Given the description of an element on the screen output the (x, y) to click on. 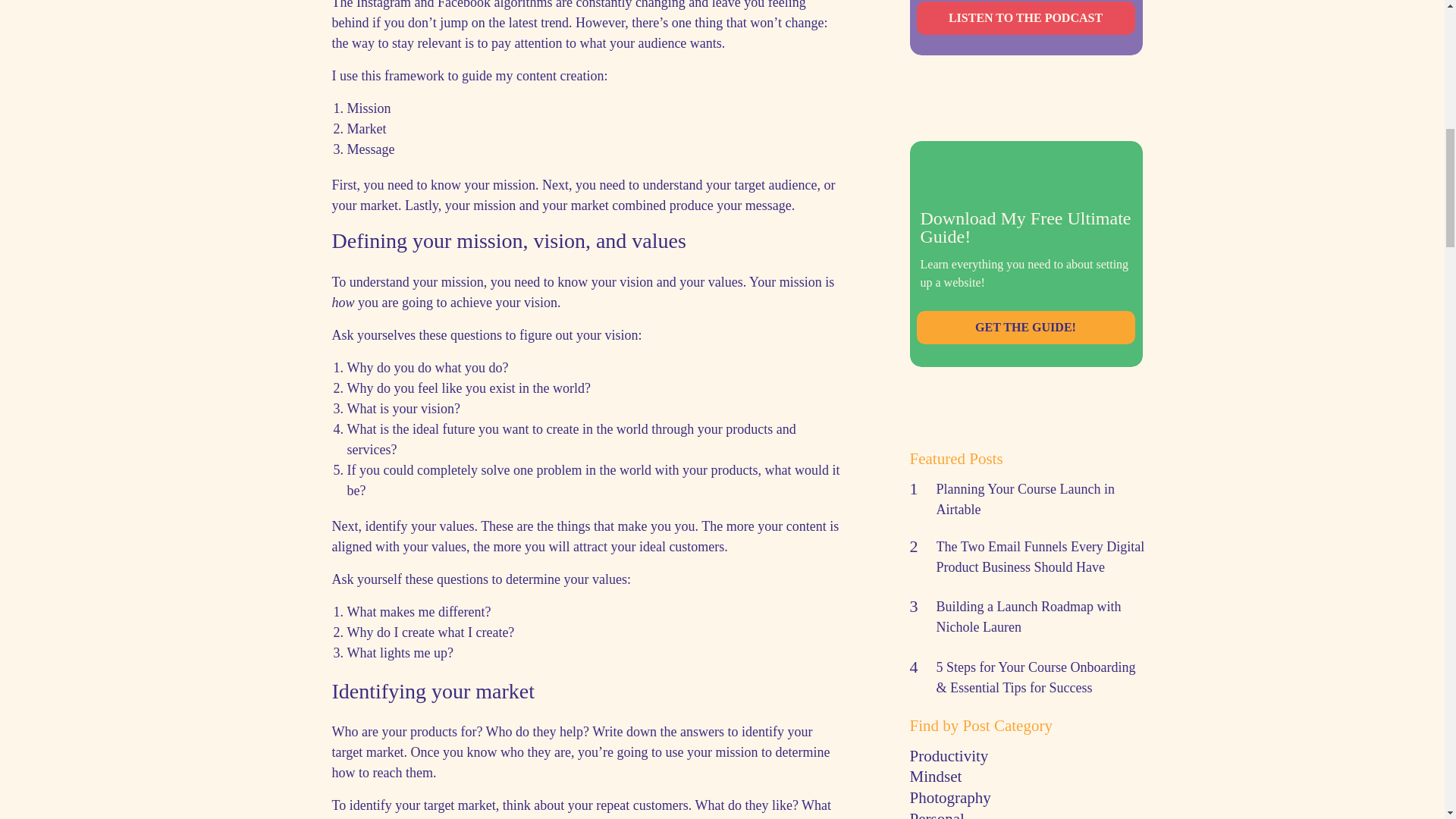
Personal (1026, 814)
Building a Launch Roadmap with Nichole Lauren (1028, 616)
Mindset (1026, 774)
Photography (1026, 795)
Planning Your Course Launch in Airtable (1025, 498)
Productivity (1026, 752)
